Given the description of an element on the screen output the (x, y) to click on. 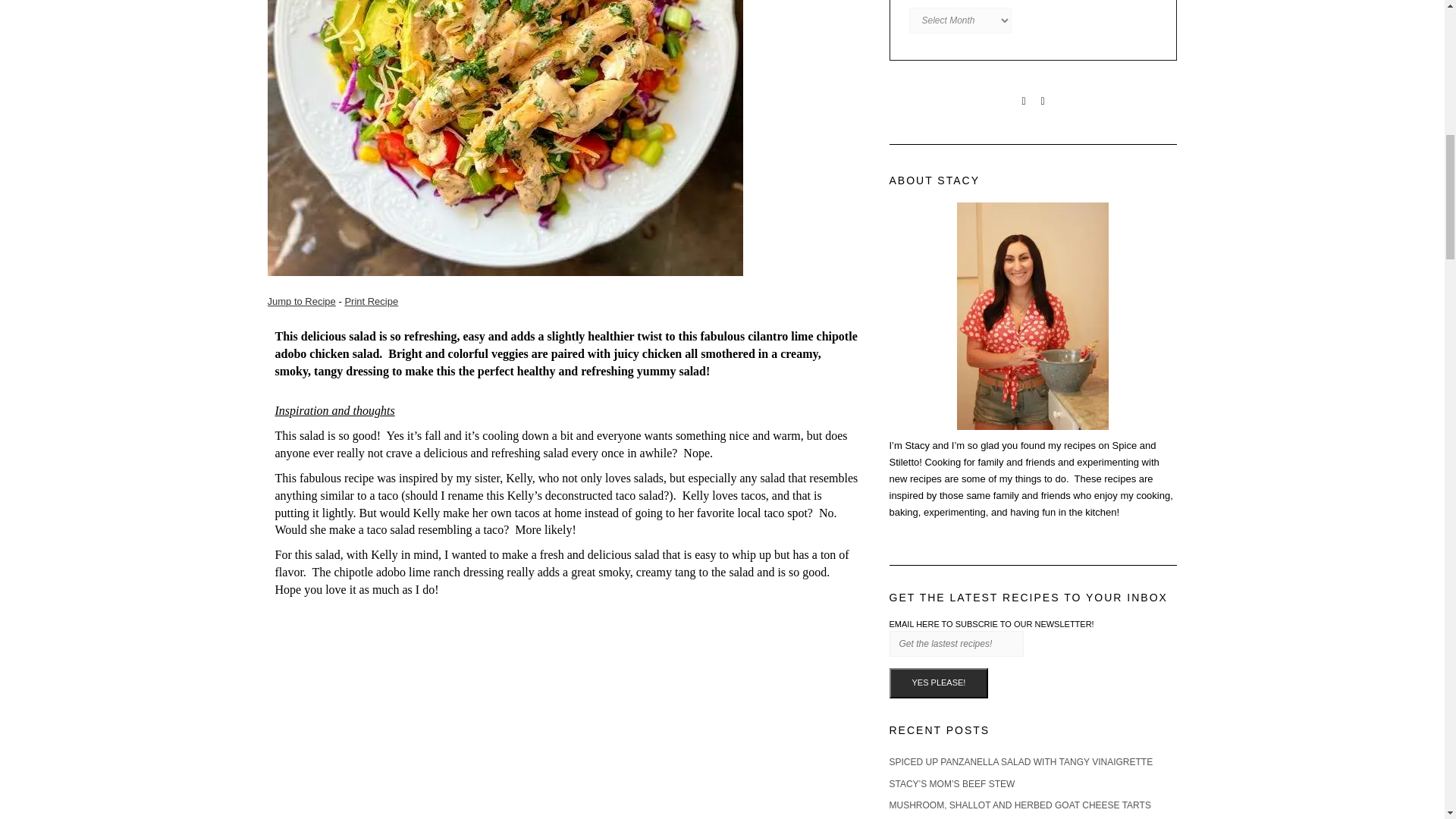
Print Recipe (370, 301)
Yes Please! (938, 683)
Jump to Recipe (300, 301)
